Given the description of an element on the screen output the (x, y) to click on. 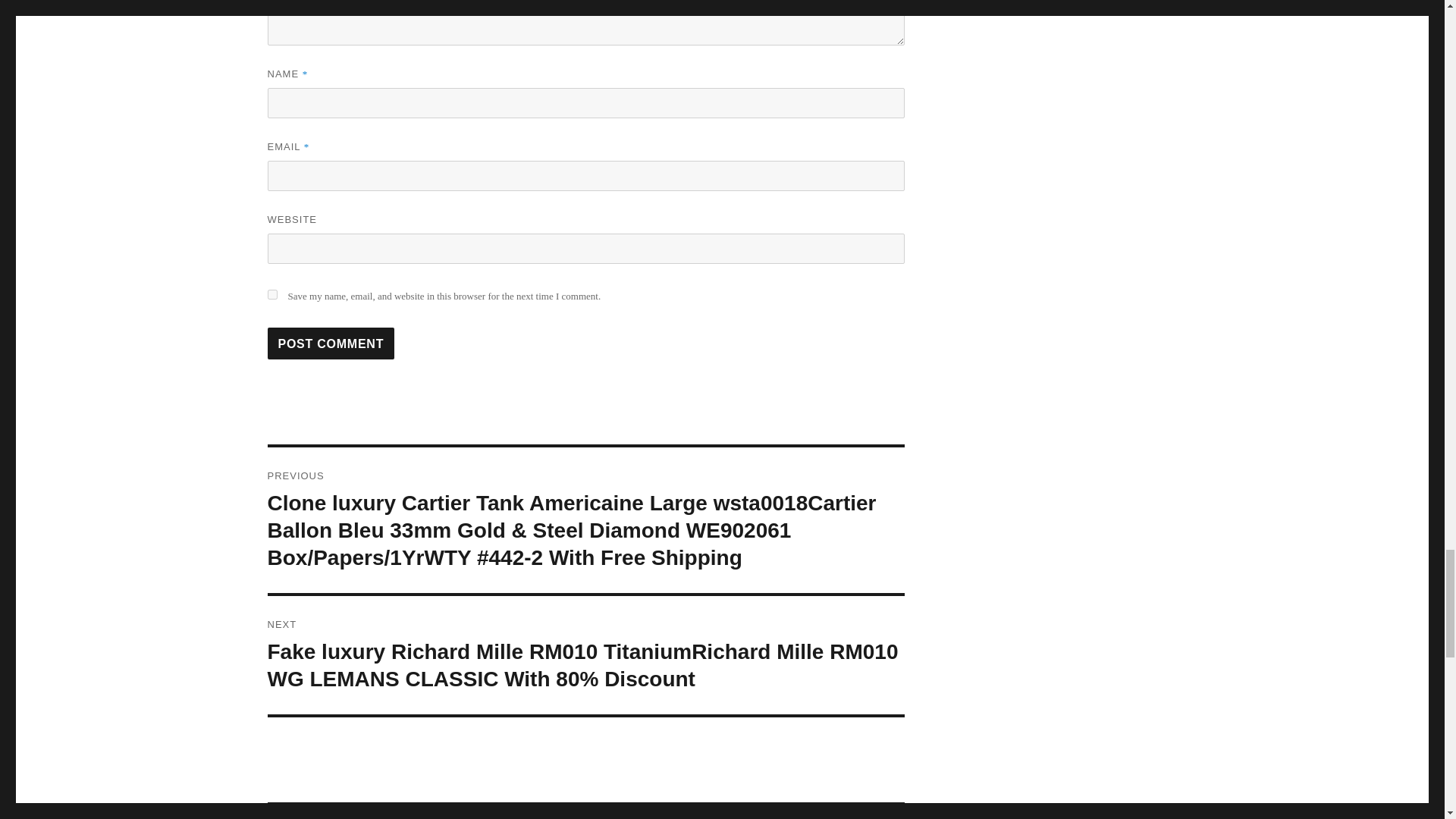
yes (271, 294)
Post Comment (330, 343)
Post Comment (330, 343)
